Given the description of an element on the screen output the (x, y) to click on. 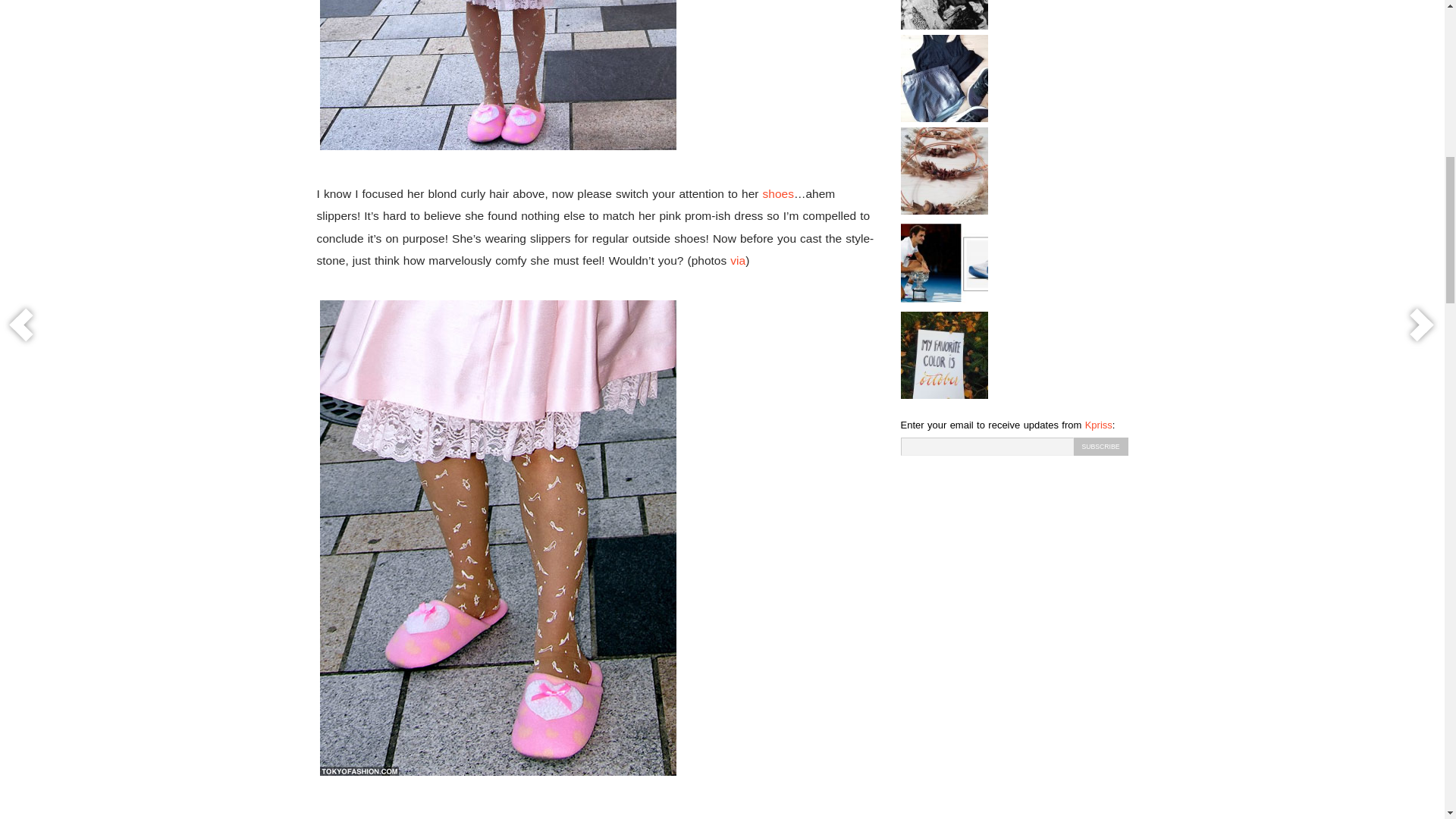
Hime Gyaru pink bow dress (498, 76)
Subscribe (1101, 446)
via (737, 259)
shoes (777, 193)
